Given the description of an element on the screen output the (x, y) to click on. 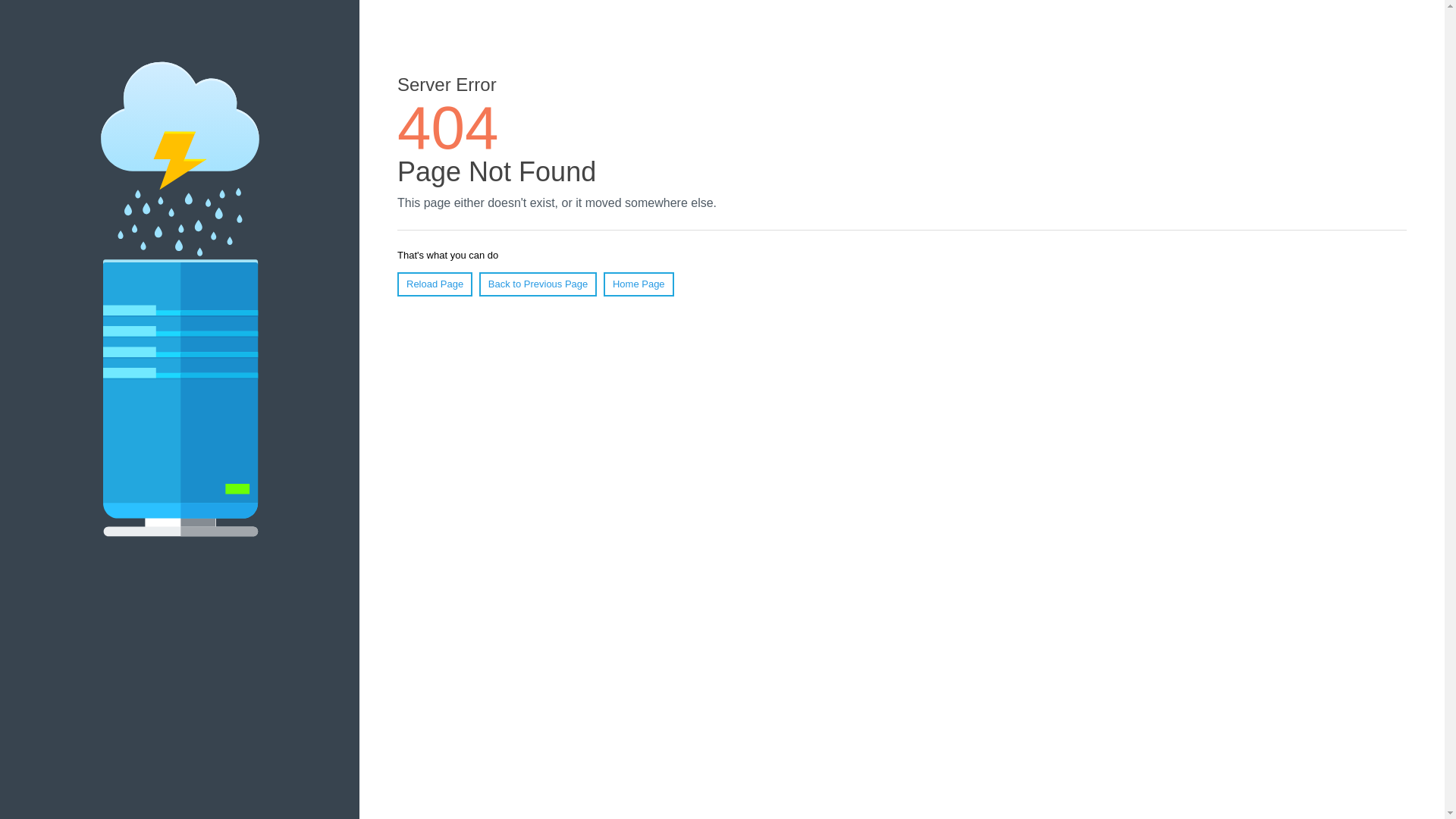
Back to Previous Page Element type: text (538, 284)
Home Page Element type: text (638, 284)
Reload Page Element type: text (434, 284)
